Given the description of an element on the screen output the (x, y) to click on. 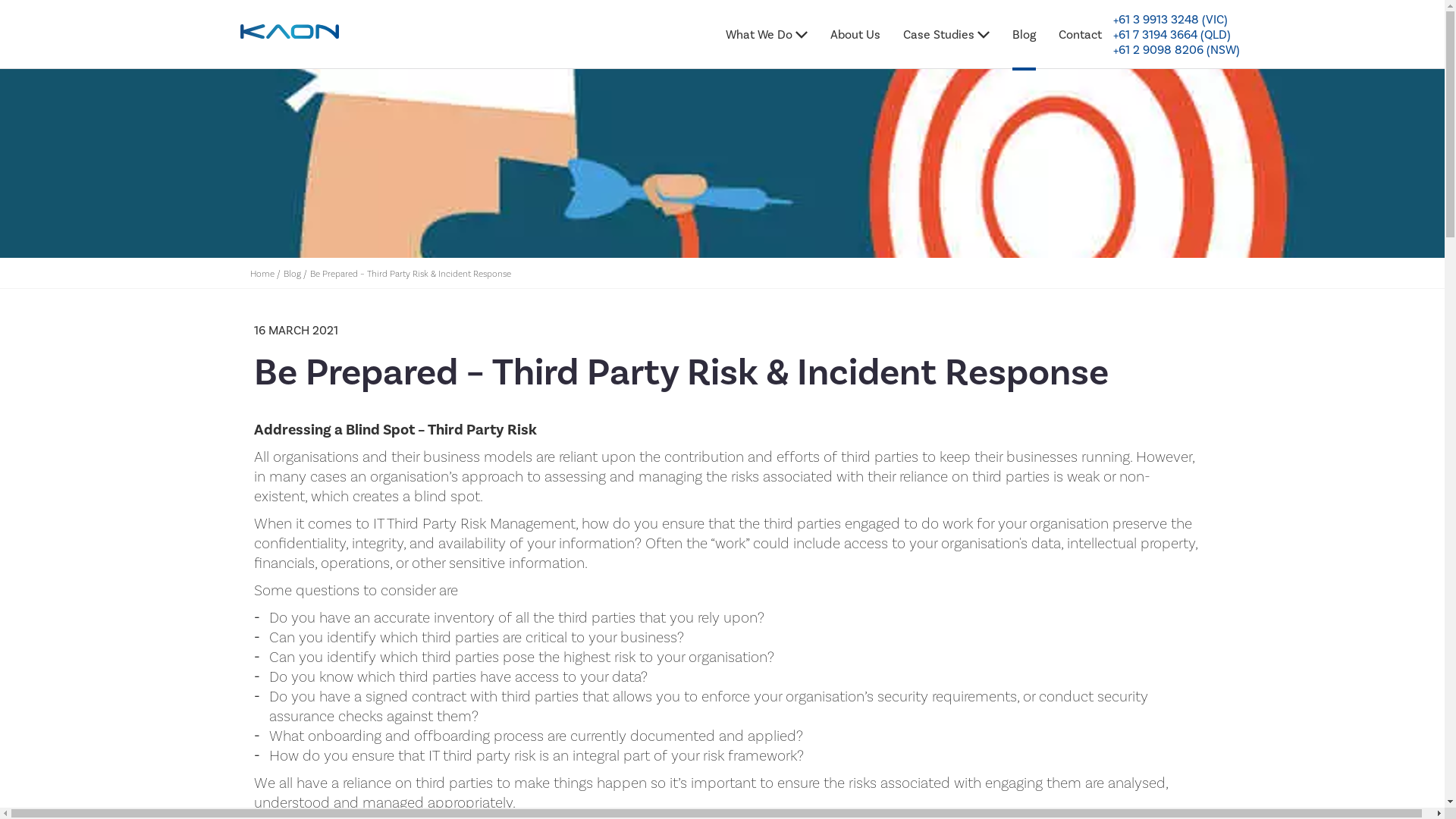
Case Studies Element type: text (946, 49)
Kaon Security Logo, IT Security Experts Element type: text (289, 34)
About Us Element type: text (855, 49)
Contact Element type: text (1079, 49)
Blog Element type: text (1023, 49)
What We Do Element type: text (766, 49)
Home Element type: text (262, 273)
+61 3 9913 3248 (VIC) Element type: text (1170, 19)
+61 7 3194 3664 (QLD) Element type: text (1171, 34)
+61 2 9098 8206 (NSW) Element type: text (1176, 49)
Blog Element type: text (292, 273)
